Given the description of an element on the screen output the (x, y) to click on. 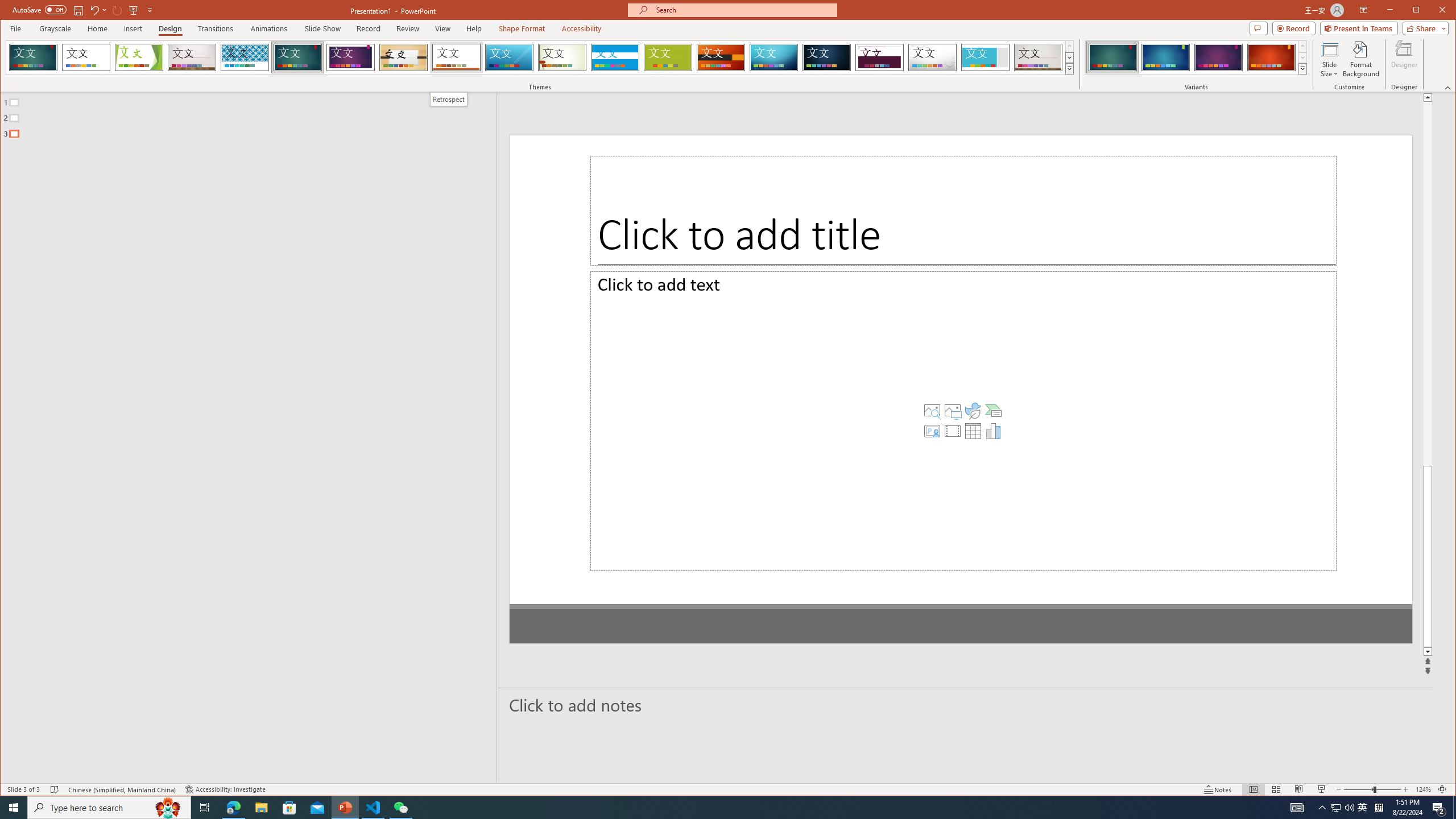
Gallery (1037, 57)
Integral (244, 57)
Variants (1302, 68)
Insert Chart (952, 452)
Zoom 124% (1422, 789)
